Given the description of an element on the screen output the (x, y) to click on. 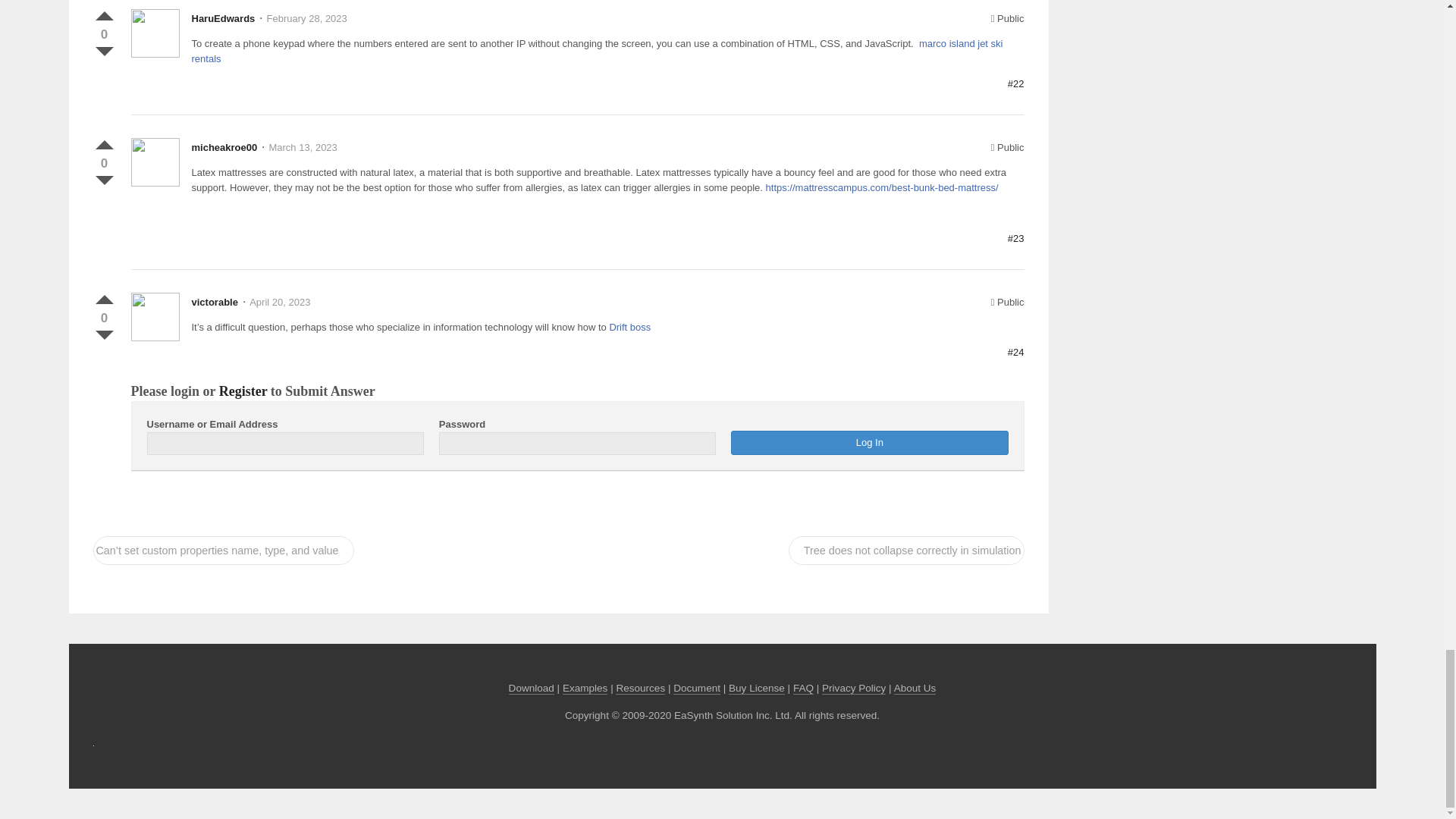
Log In (868, 442)
